Given the description of an element on the screen output the (x, y) to click on. 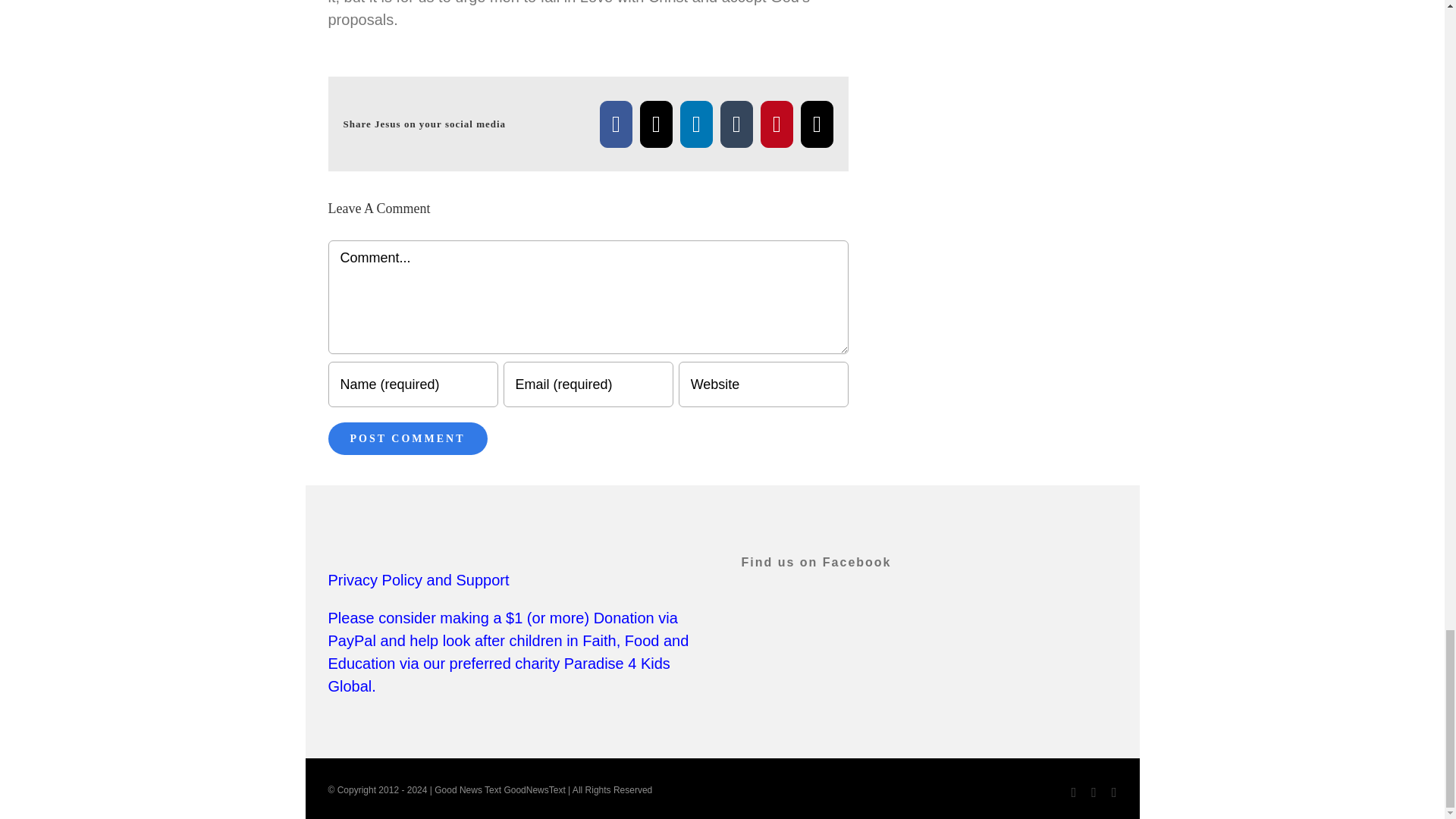
Post Comment (406, 438)
